Given the description of an element on the screen output the (x, y) to click on. 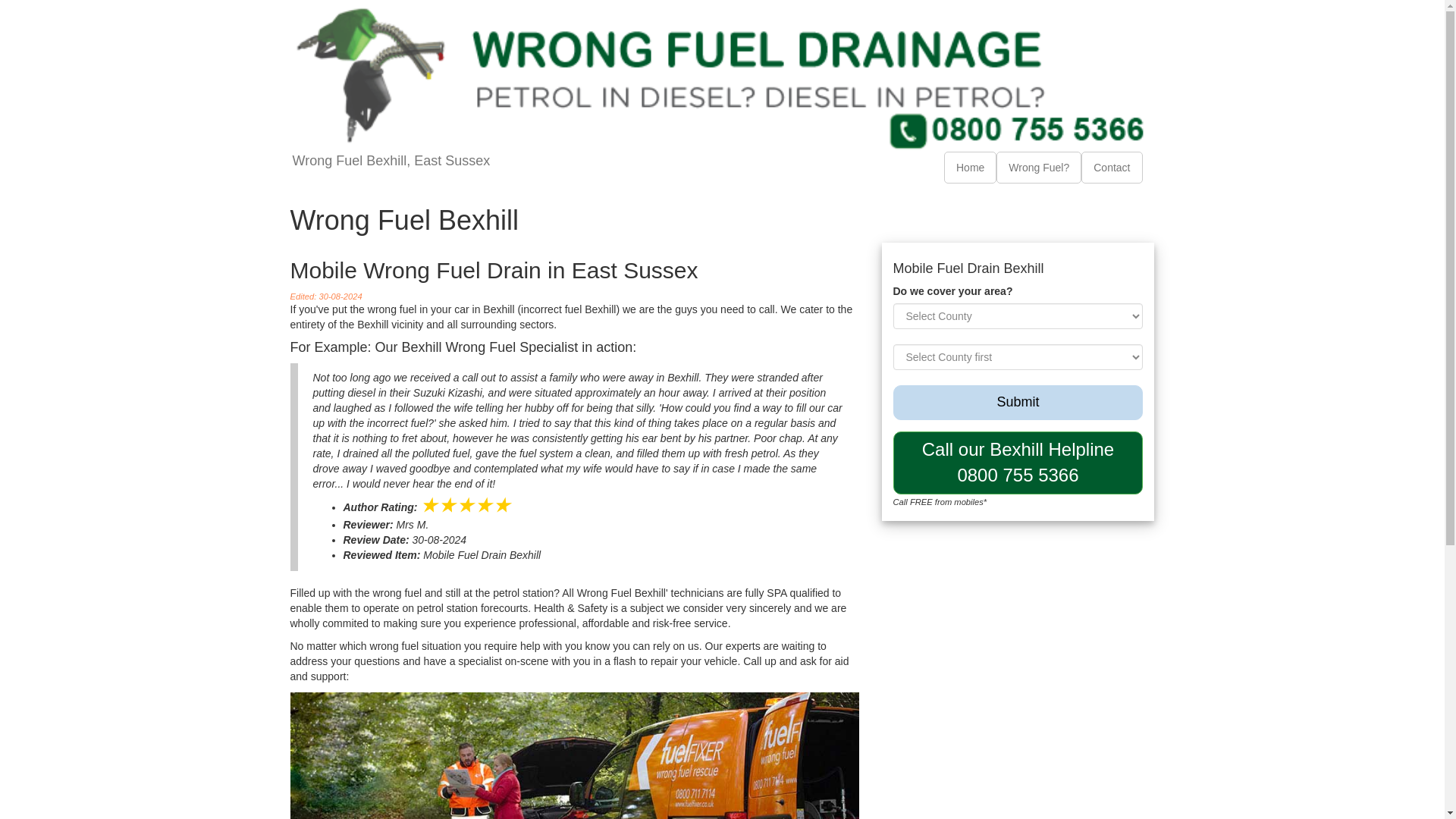
Home (969, 167)
Wrong Fuel? (1038, 167)
Submit (1017, 402)
Wrong Fuel Bexhill, East Sussex (391, 170)
Contact (1111, 167)
